Given the description of an element on the screen output the (x, y) to click on. 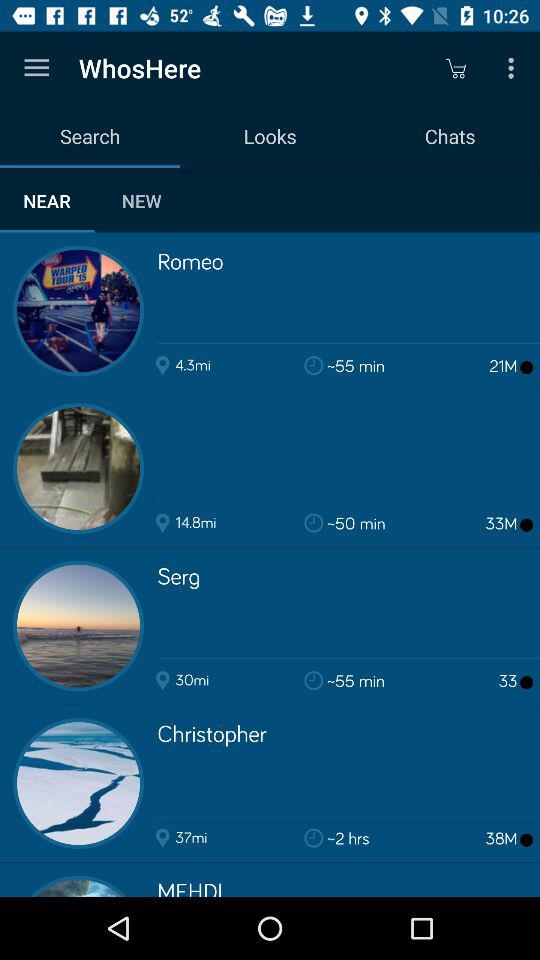
turn on the app above the chats icon (513, 67)
